Given the description of an element on the screen output the (x, y) to click on. 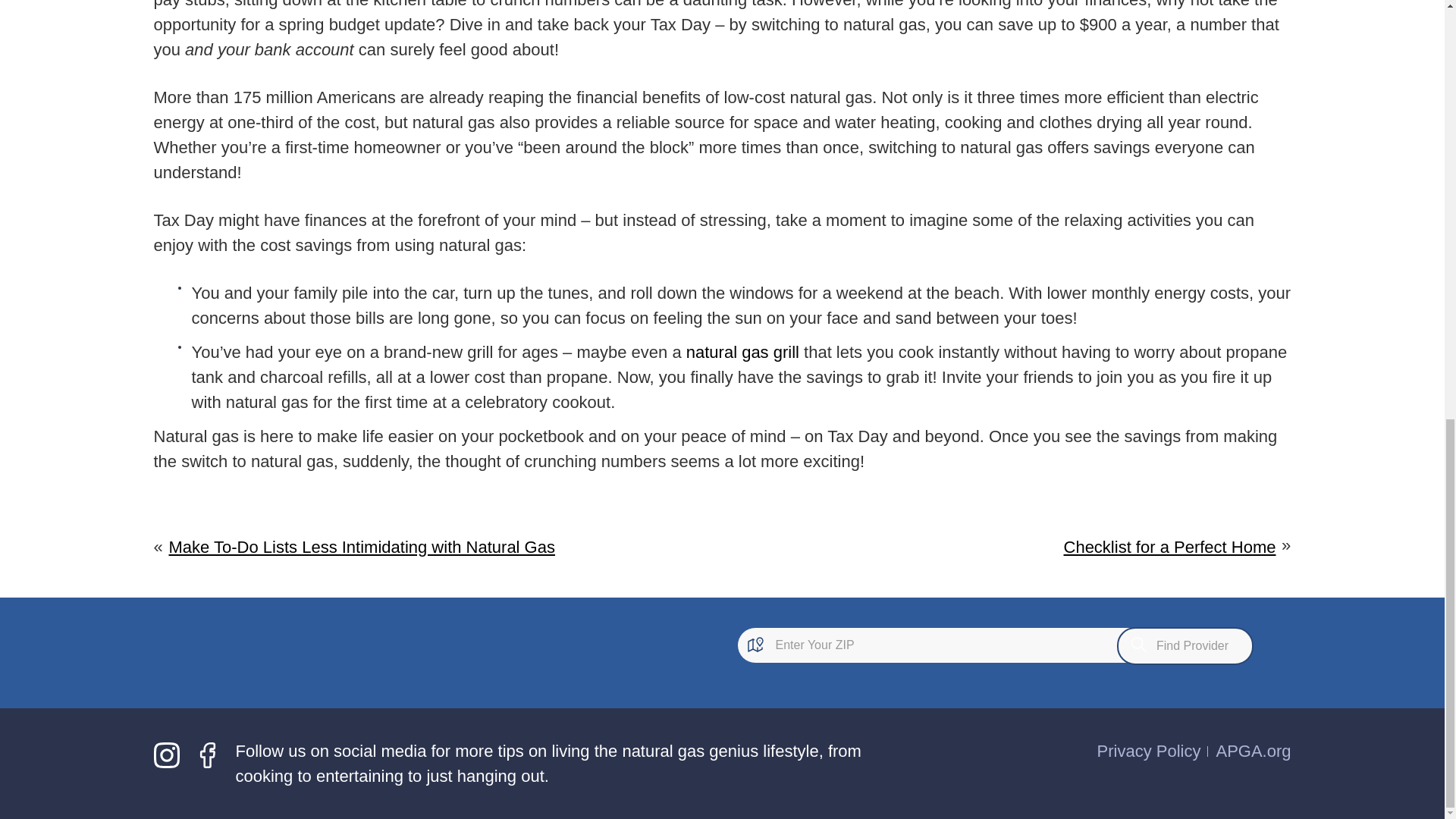
APGA.org (1252, 751)
Checklist for a Perfect Home (1170, 546)
Find Provider (1184, 646)
natural gas grill (742, 352)
Make To-Do Lists Less Intimidating with Natural Gas (361, 546)
Privacy Policy (1149, 751)
Find Provider (1184, 646)
